Given the description of an element on the screen output the (x, y) to click on. 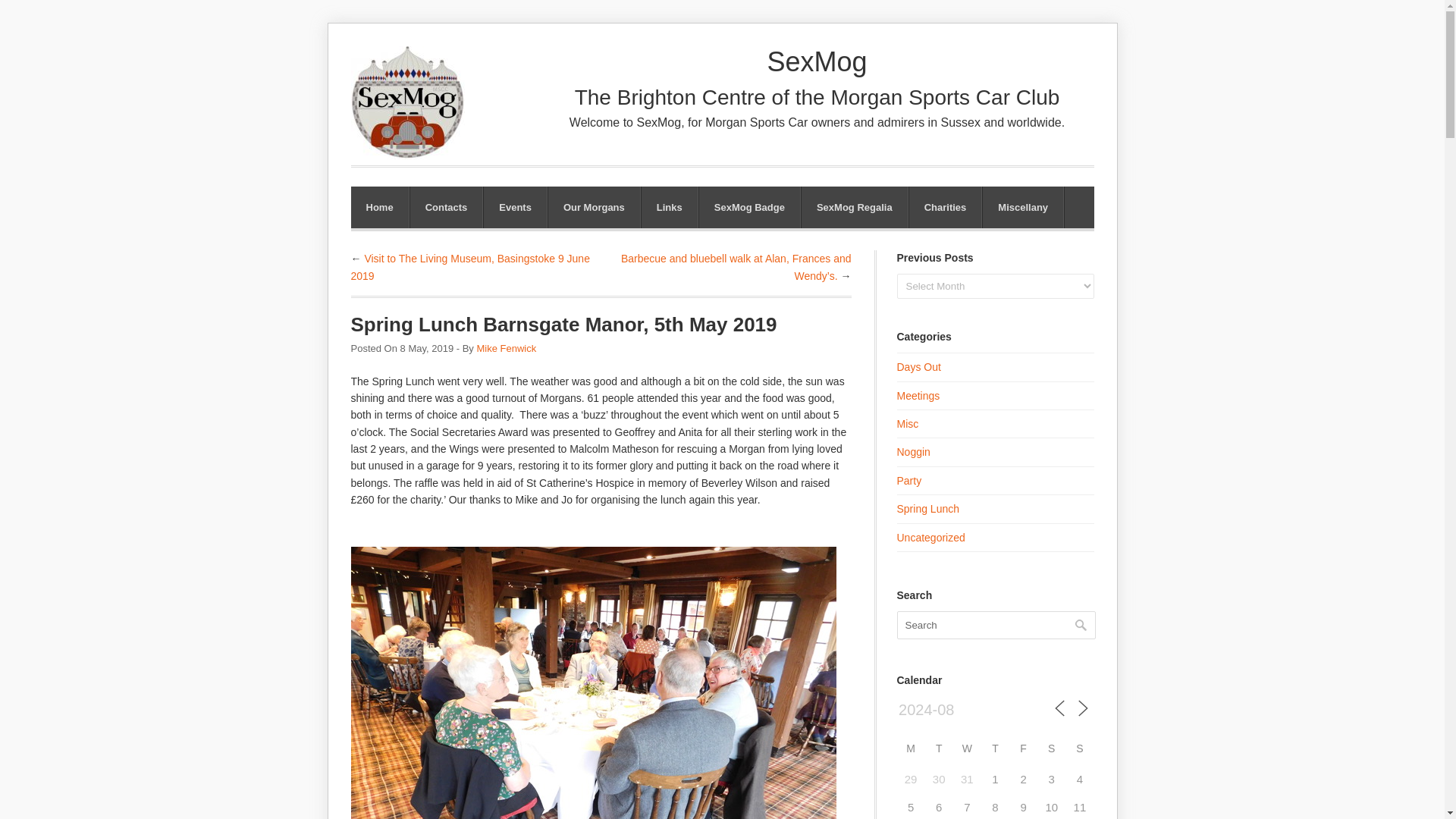
SexMog Regalia (854, 207)
Party (908, 480)
Meetings (917, 395)
Mike Fenwick (505, 348)
Our Morgans (594, 207)
Noggin (913, 451)
Events (515, 207)
SexMog Badge (748, 207)
Links (669, 207)
Charities (944, 207)
Misc (907, 423)
Contacts (446, 207)
Days Out (918, 367)
Visit to The Living Museum, Basingstoke 9 June 2019 (469, 266)
2024-08 (961, 710)
